Given the description of an element on the screen output the (x, y) to click on. 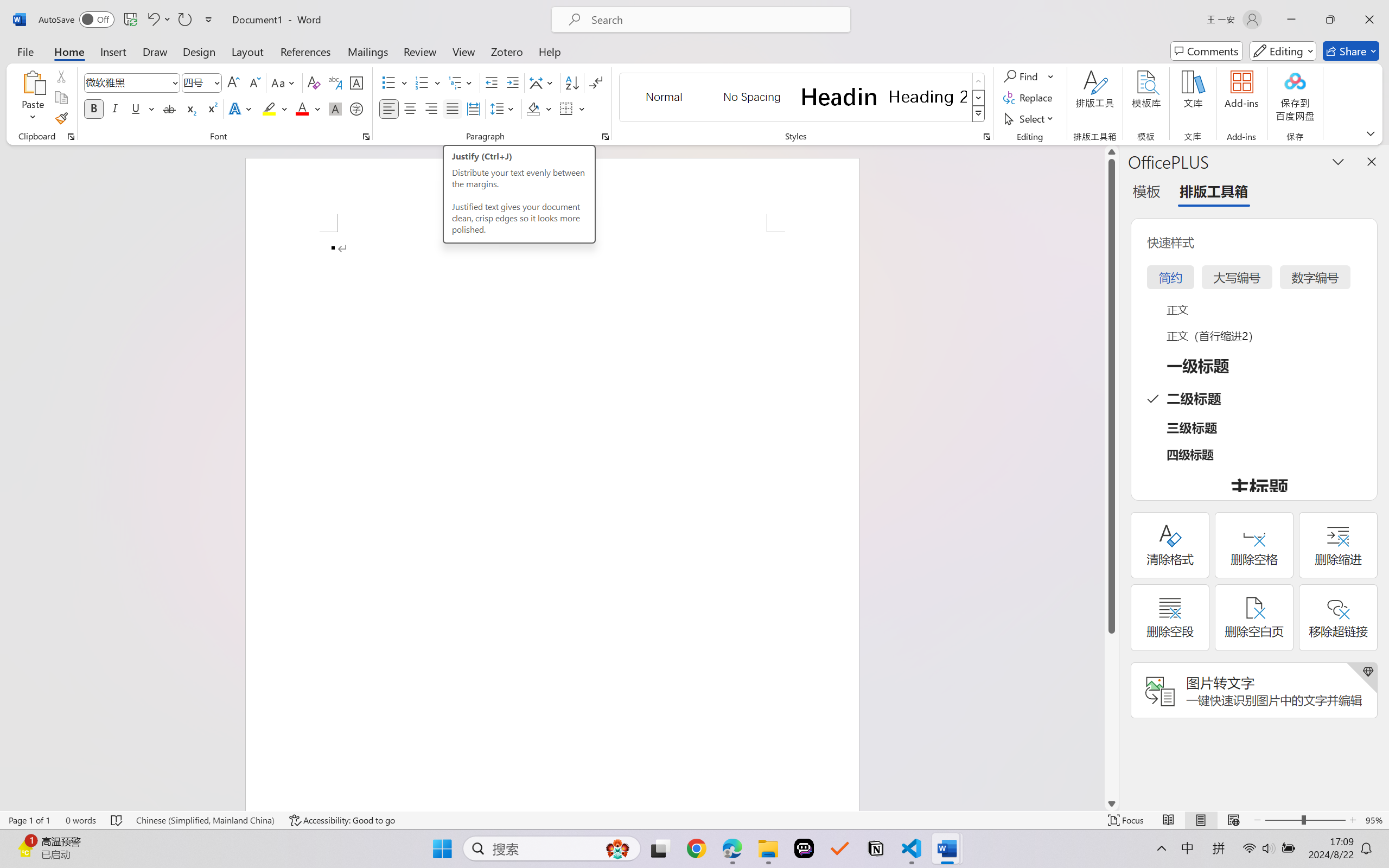
Line up (1111, 151)
Page 1 content (552, 521)
